Given the description of an element on the screen output the (x, y) to click on. 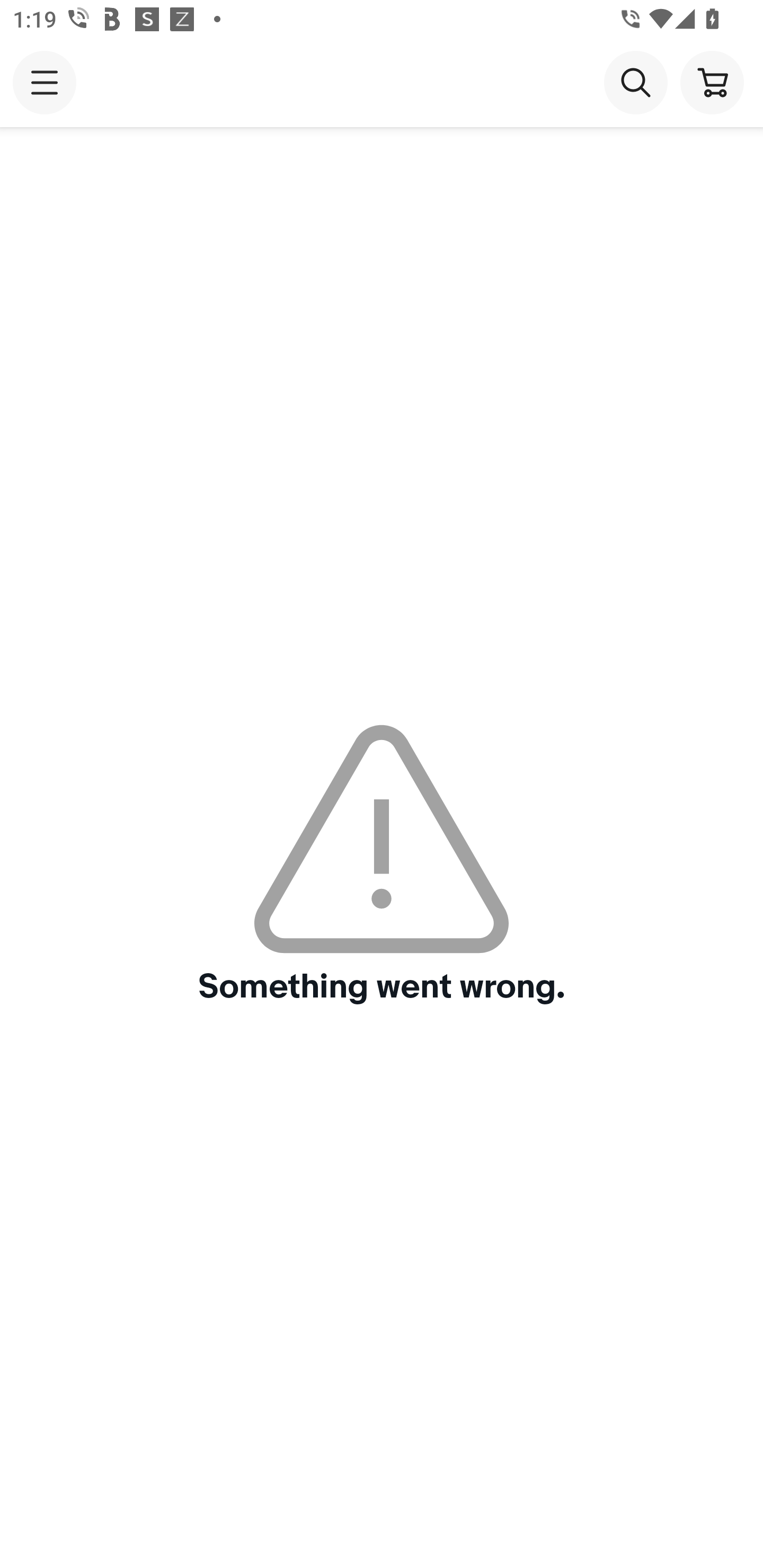
Main navigation, open (44, 82)
Search (635, 81)
Cart button shopping cart (711, 81)
